Given the description of an element on the screen output the (x, y) to click on. 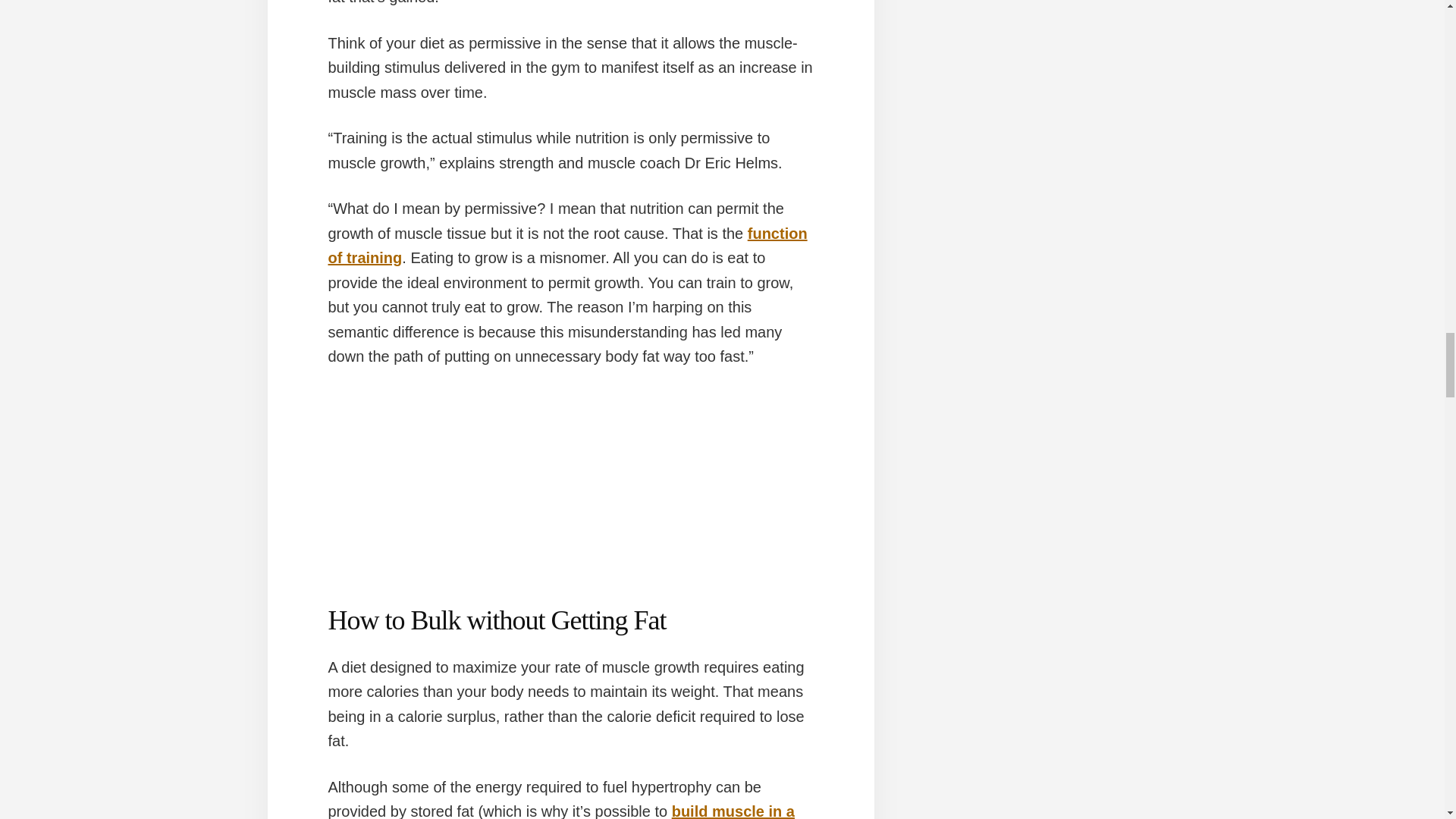
build muscle in a calorie deficit (560, 811)
function of training (566, 245)
